Given the description of an element on the screen output the (x, y) to click on. 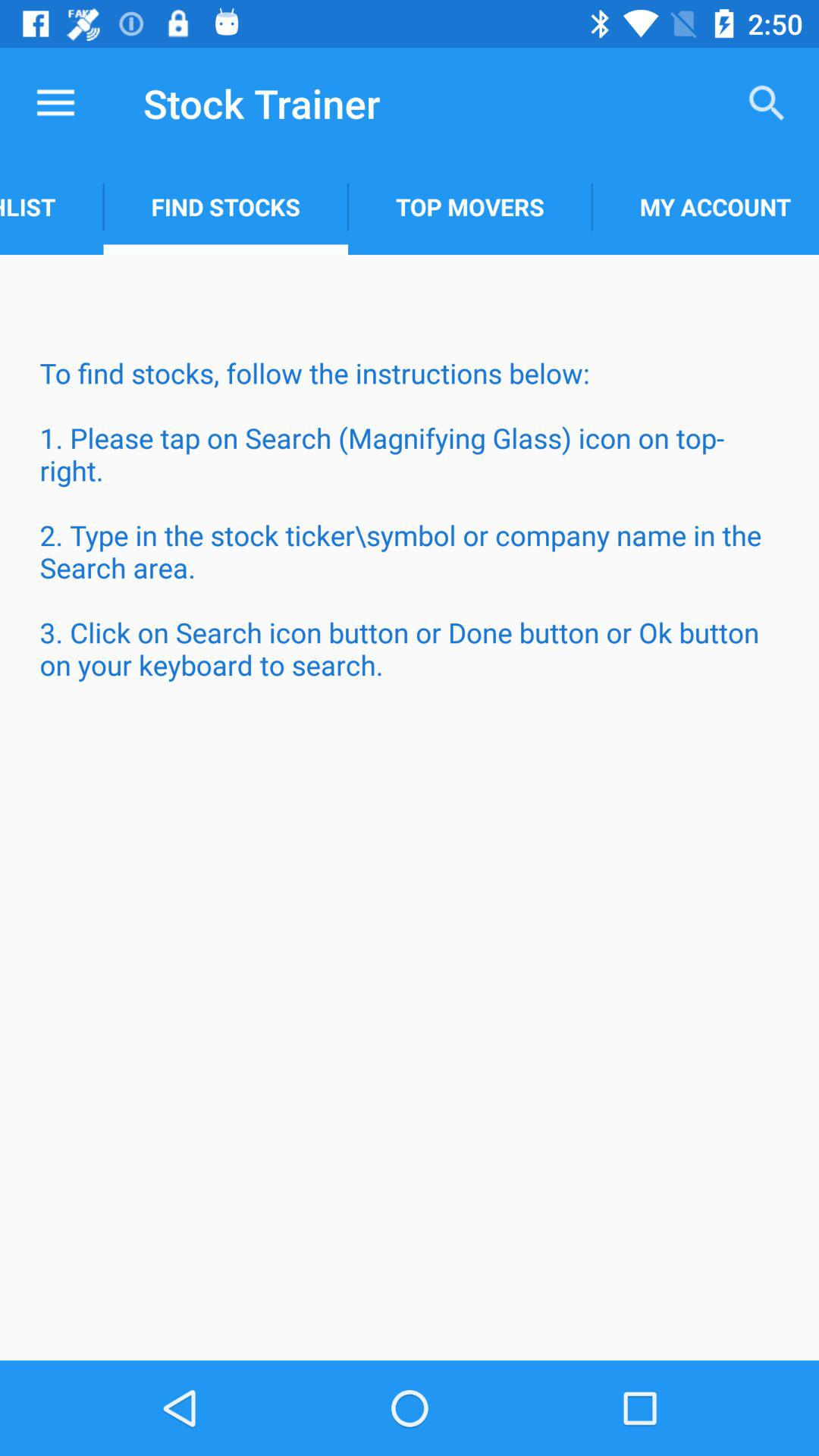
click the item above the watchlist item (55, 103)
